Given the description of an element on the screen output the (x, y) to click on. 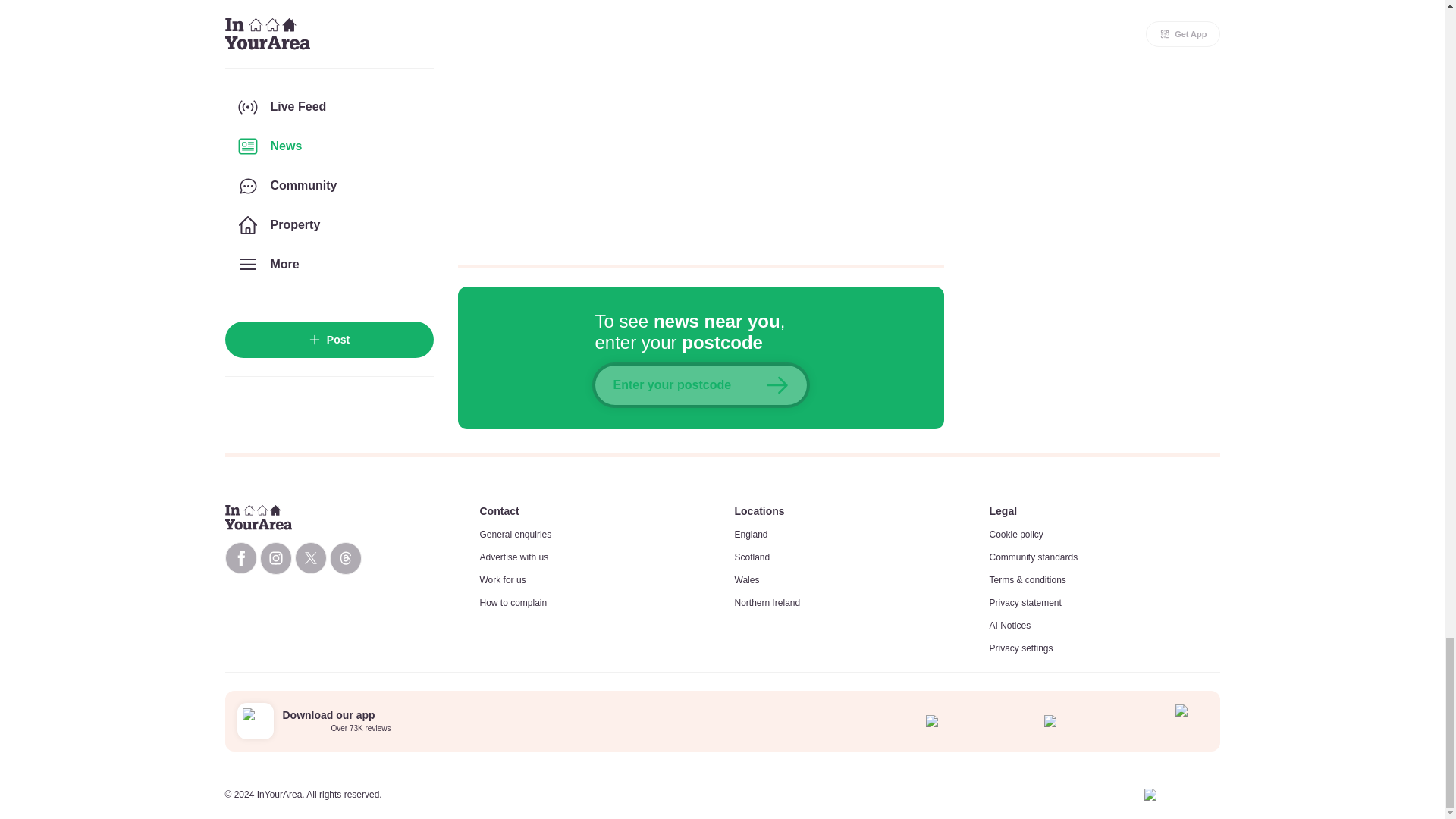
InYourArea X (310, 558)
InYourArea Facebook (240, 558)
InYourArea Threads (345, 558)
InYourArea Instagram (275, 558)
comments (701, 122)
